Given the description of an element on the screen output the (x, y) to click on. 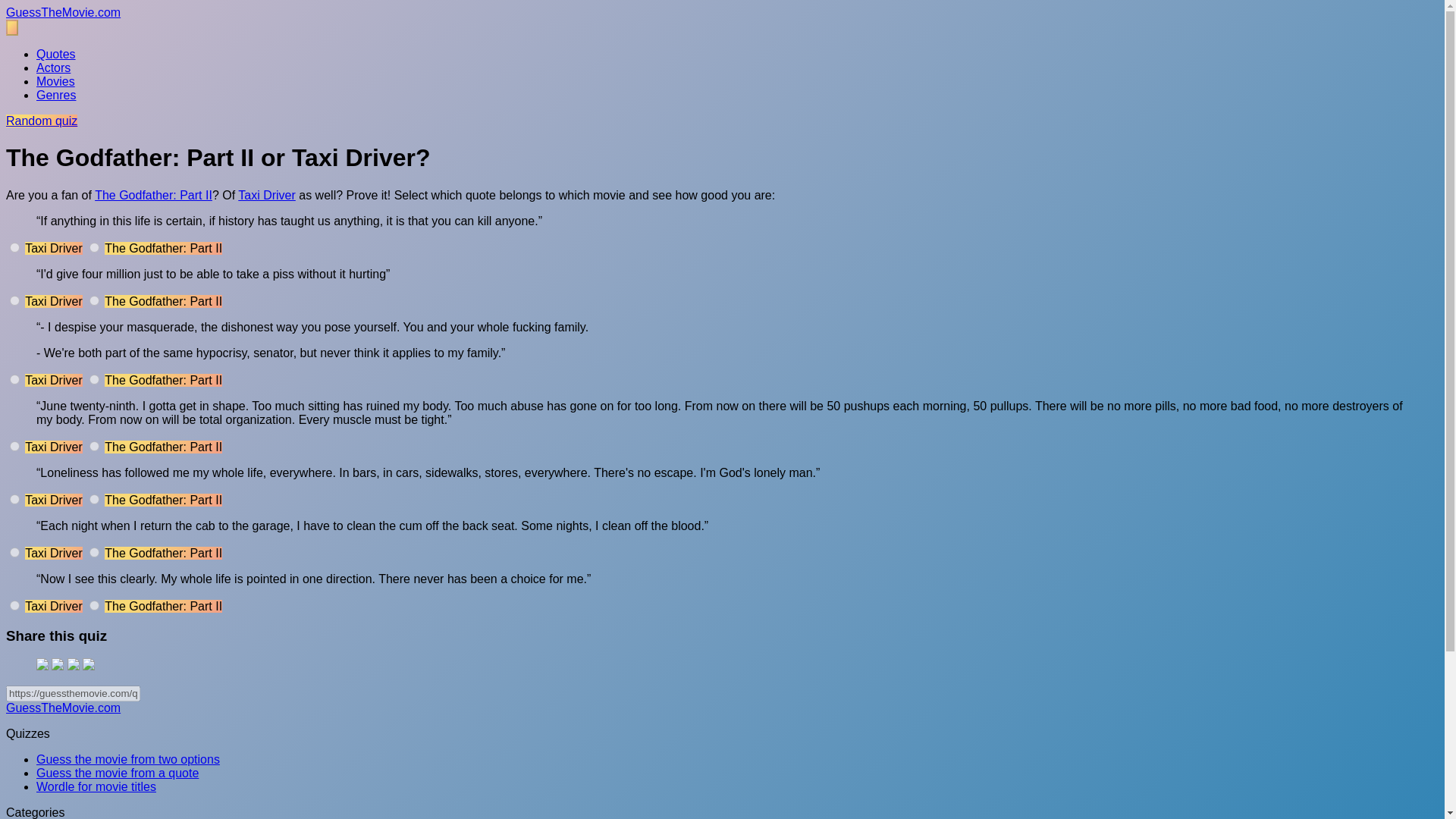
on (15, 300)
Quotes (55, 53)
on (93, 499)
Taxi Driver (266, 195)
on (93, 552)
on (93, 379)
Guess the movie from two options (127, 758)
on (93, 247)
on (15, 499)
on (15, 247)
The Godfather: Part II (153, 195)
on (15, 552)
on (93, 300)
Wordle for movie titles (95, 786)
on (15, 379)
